Given the description of an element on the screen output the (x, y) to click on. 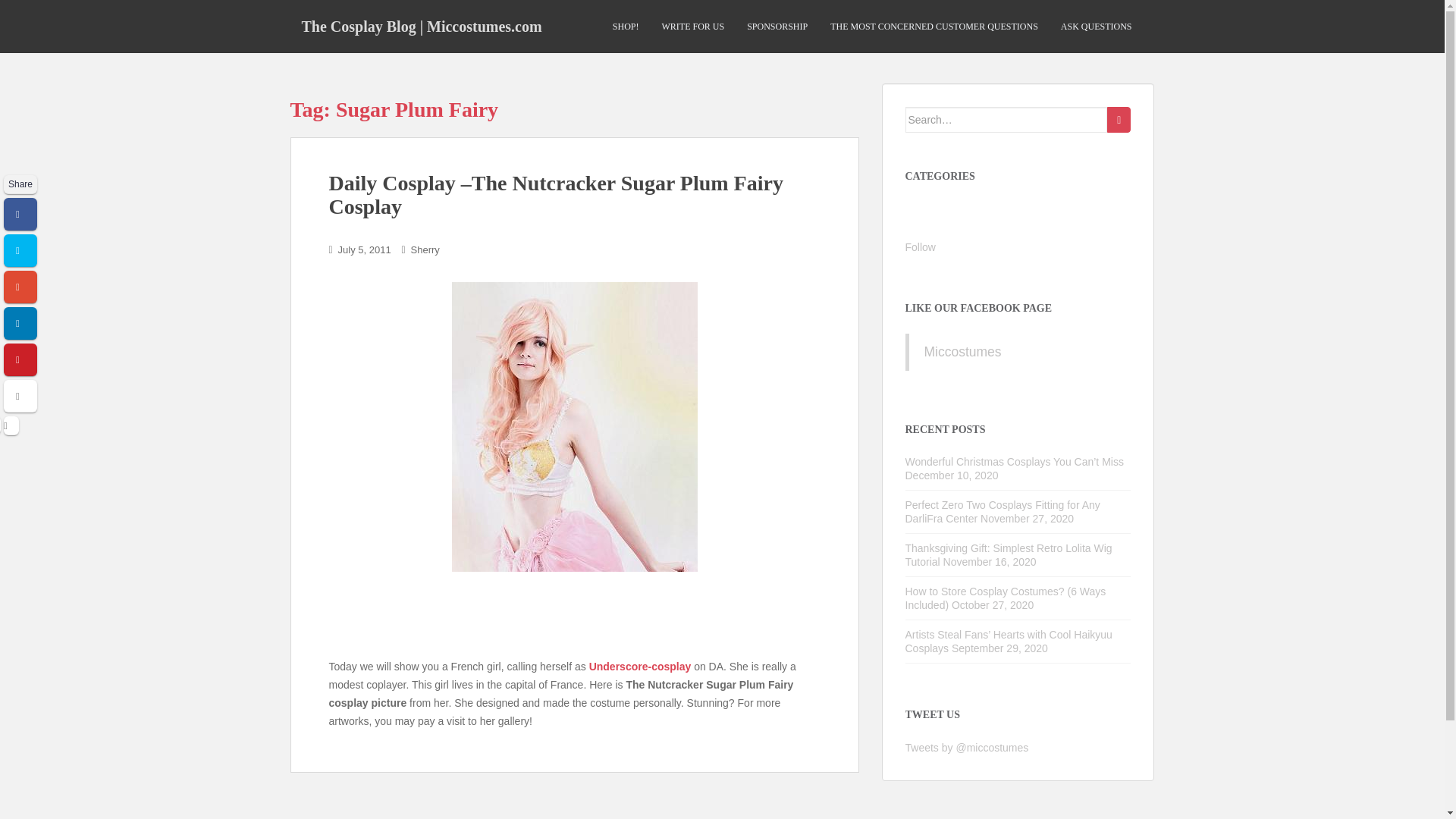
WRITE FOR US (692, 26)
Perfect Zero Two Cosplays Fitting for Any DarliFra Center (1002, 511)
July 5, 2011 (364, 249)
More... (20, 395)
Search (1118, 119)
Sherry (424, 249)
Miccostumes (962, 351)
Thanksgiving Gift: Simplest Retro Lolita Wig Tutorial (1008, 555)
THE MOST CONCERNED CUSTOMER QUESTIONS (933, 26)
SPONSORSHIP (777, 26)
